Given the description of an element on the screen output the (x, y) to click on. 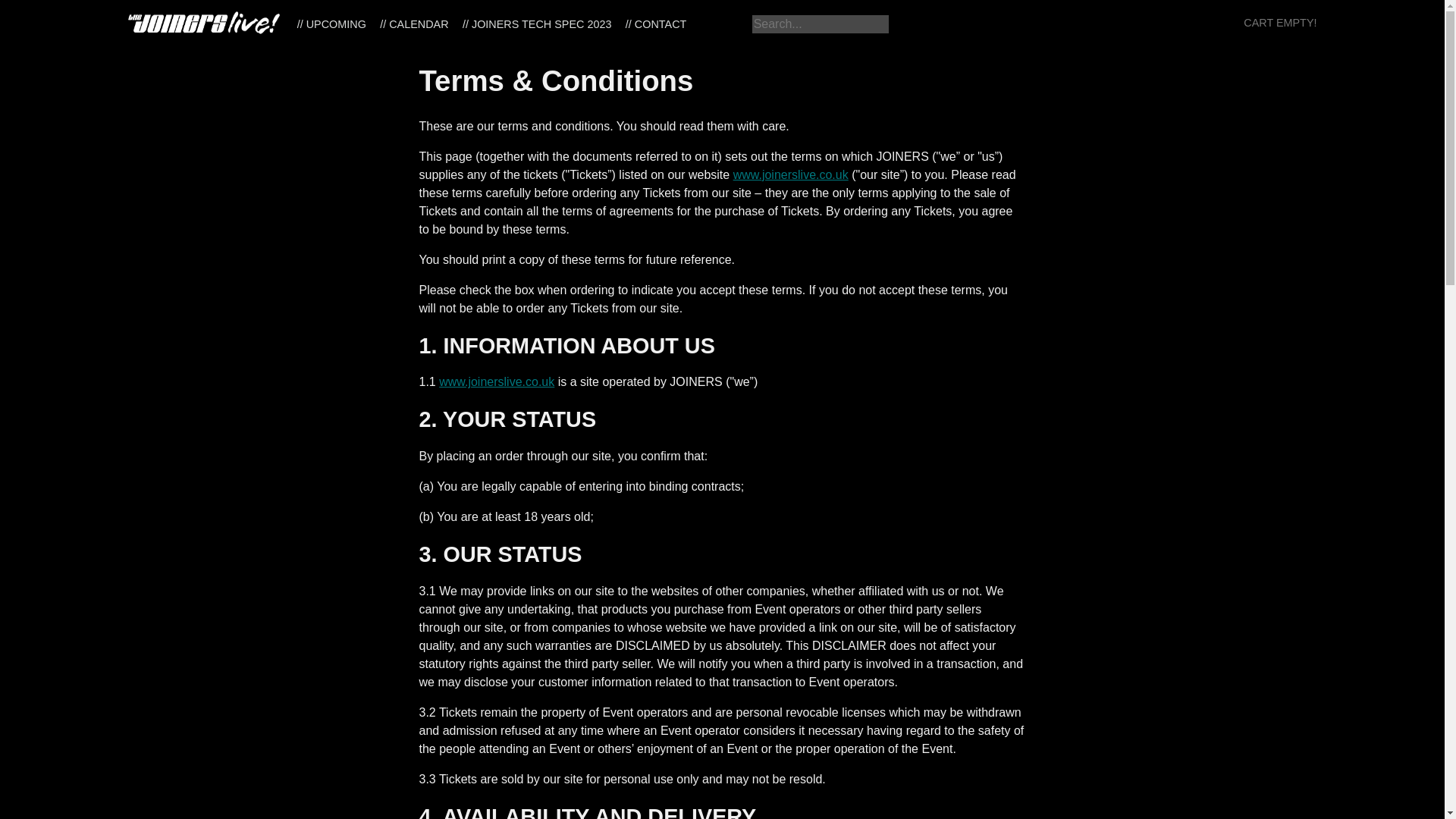
UPCOMING (331, 24)
JOINERS TECH SPEC 2023 (537, 24)
www.joinerslive.co.uk (790, 174)
CALENDAR (414, 24)
CONTACT (656, 24)
www.joinerslive.co.uk (496, 381)
